Given the description of an element on the screen output the (x, y) to click on. 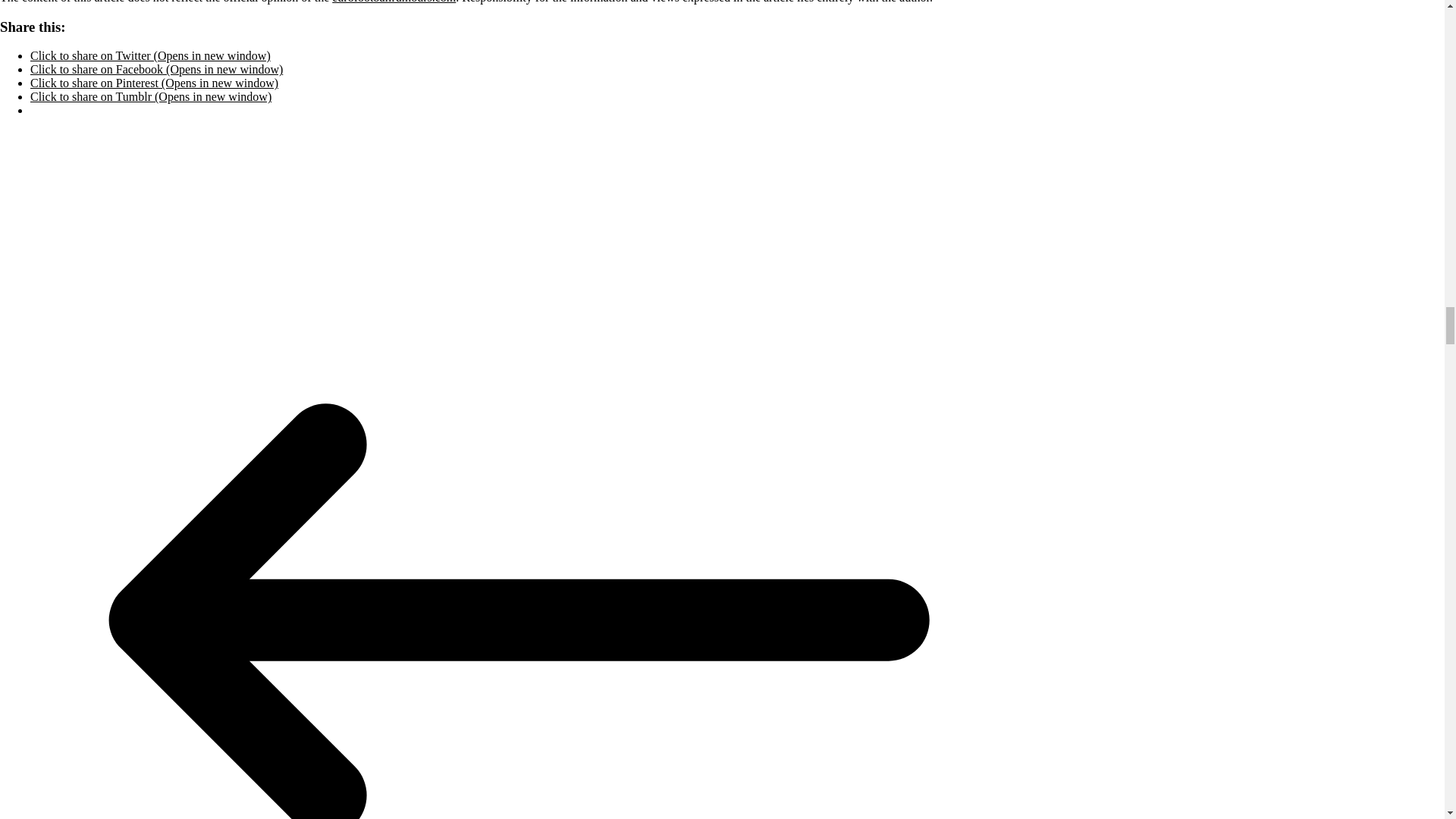
Click to share on Twitter (150, 55)
Click to share on Facebook (156, 69)
Click to share on Tumblr (150, 96)
Click to share on Pinterest (154, 82)
